Given the description of an element on the screen output the (x, y) to click on. 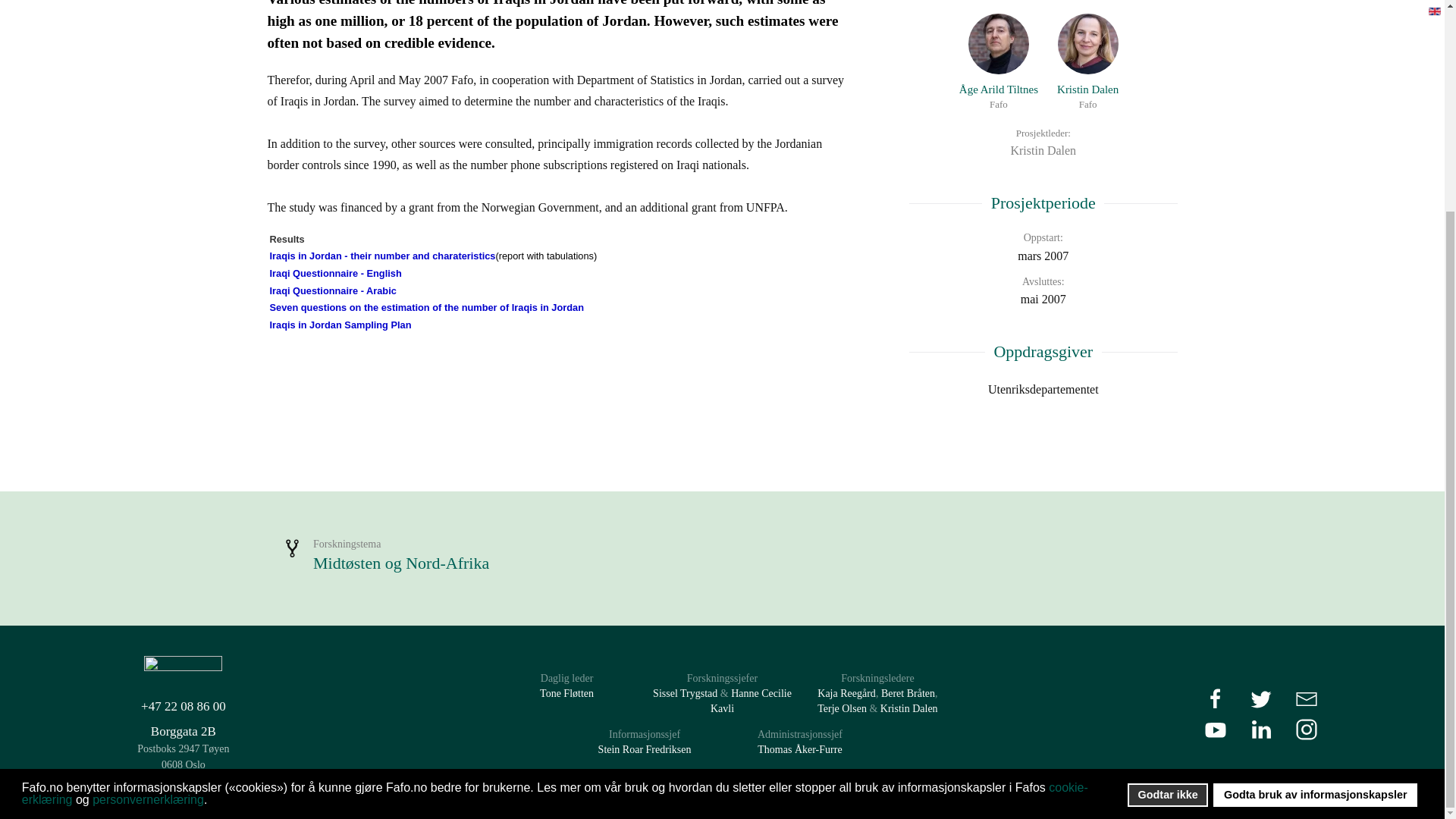
Borggata 2B (183, 730)
Sissel Trygstad (684, 693)
Iraqis in Jordan - their number and charateristics (1087, 62)
Prosjektperiode (382, 255)
Godta bruk av informasjonskapsler (1042, 203)
Utenriksdepartementet (1314, 518)
Iraqi Questionnaire - English (1042, 389)
Godtar ikke (1087, 62)
Iraqis in Jordan Sampling Plan (335, 273)
Kristin Dalen (1167, 518)
Oppdragsgiver (340, 324)
